Given the description of an element on the screen output the (x, y) to click on. 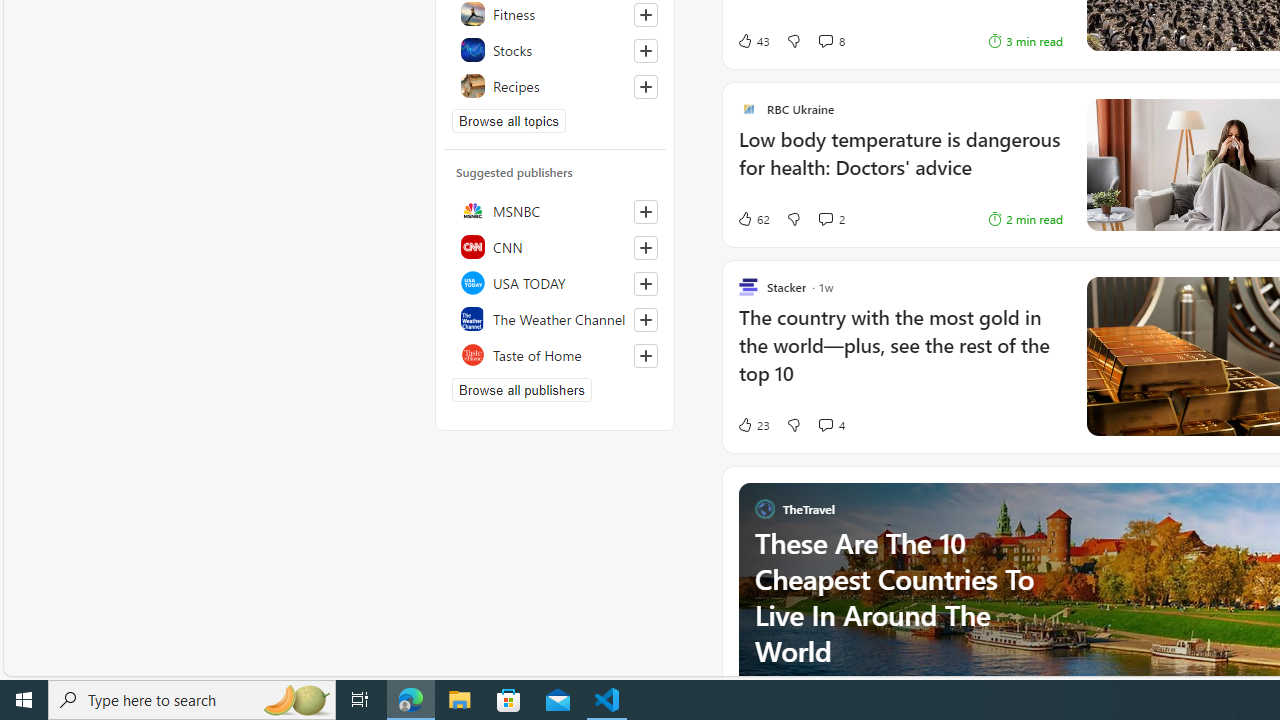
Follow this topic (645, 86)
23 Like (753, 425)
43 Like (753, 40)
Taste of Home (555, 354)
MSNBC (555, 210)
Stocks (555, 49)
Follow this source (645, 355)
CNN (555, 246)
View comments 8 Comment (825, 40)
View comments 8 Comment (830, 40)
